Given the description of an element on the screen output the (x, y) to click on. 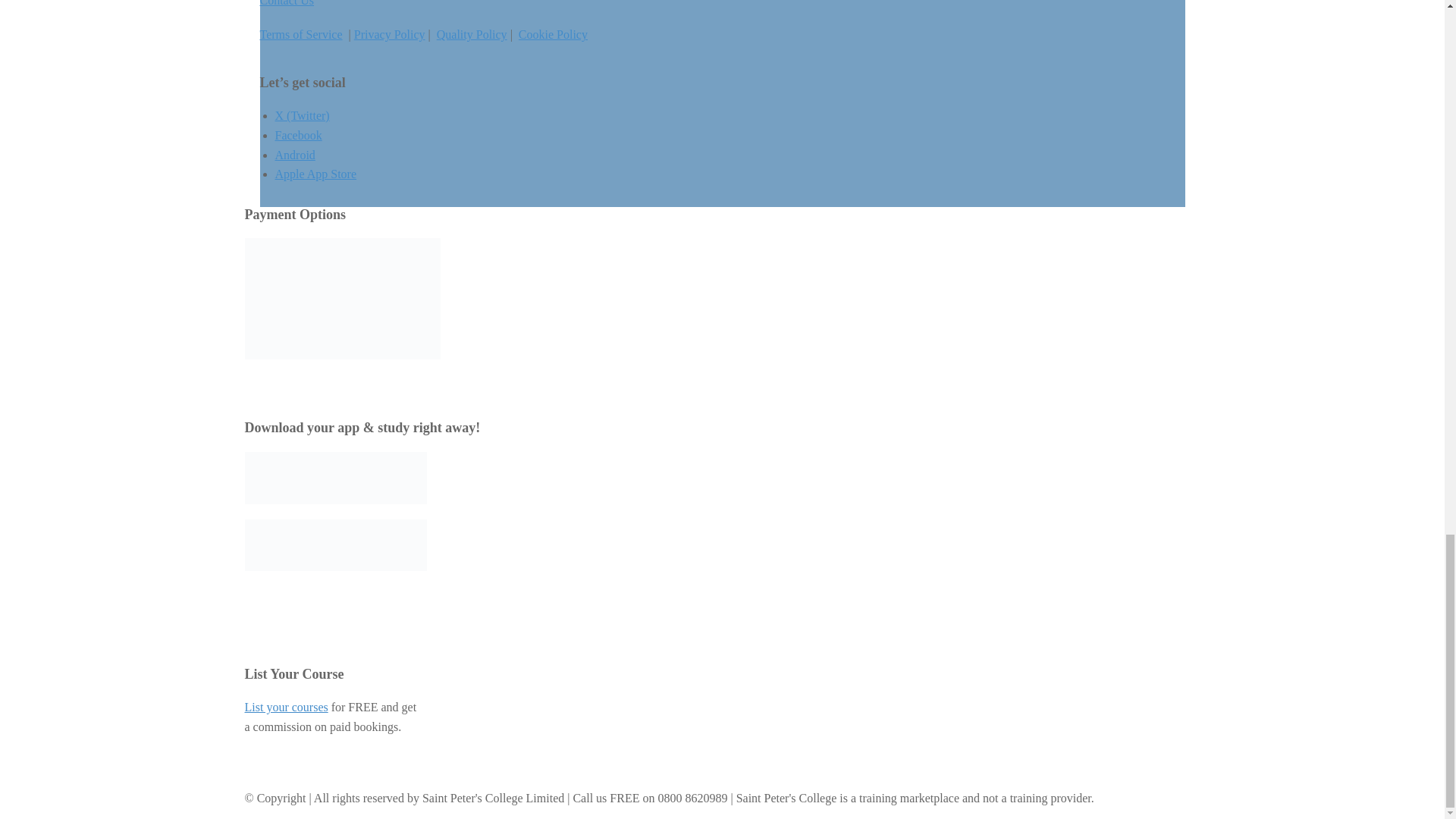
Facebook (298, 134)
Android (294, 154)
Apple App Store (315, 173)
